Given the description of an element on the screen output the (x, y) to click on. 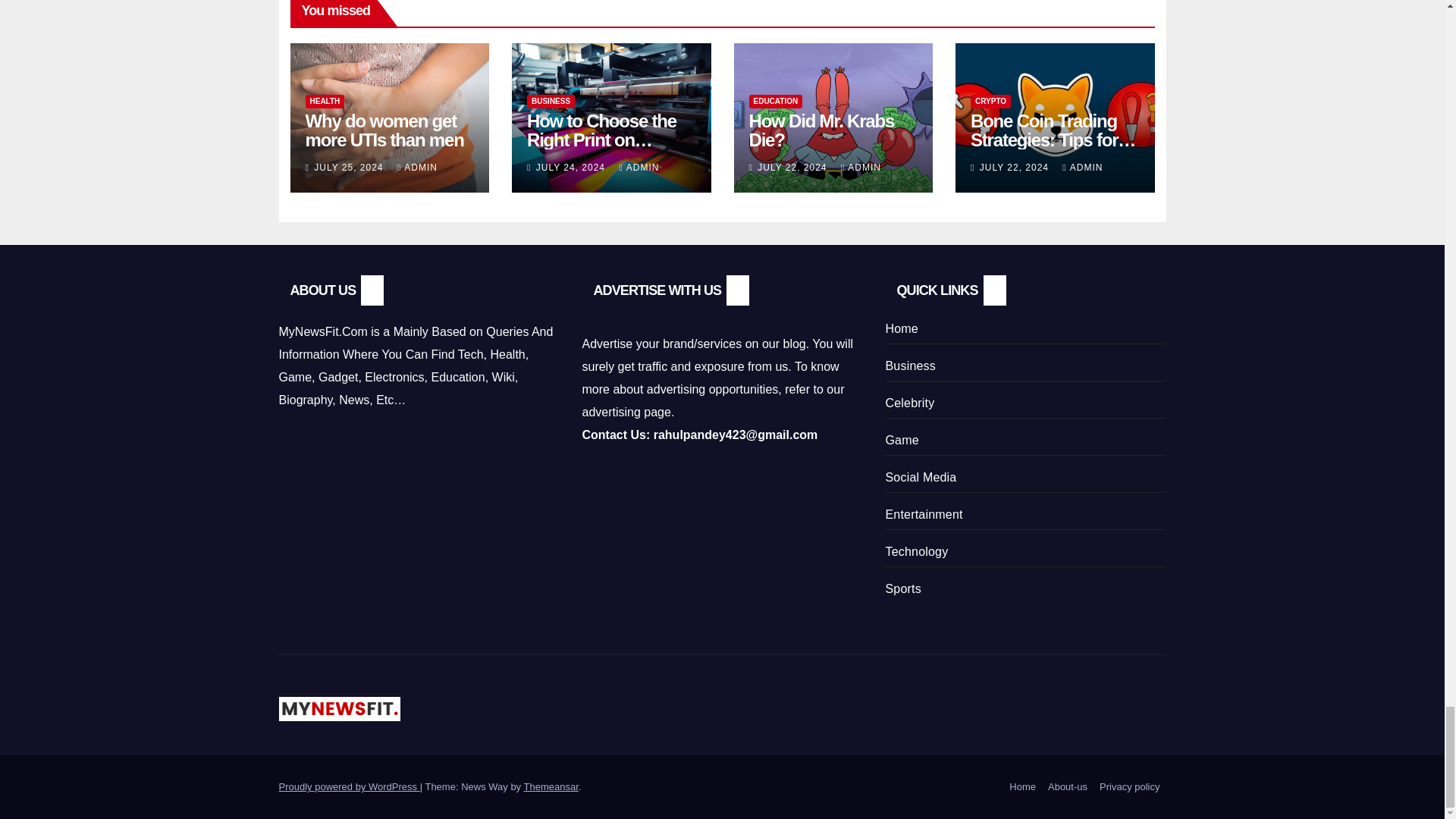
Permalink to: How Did Mr. Krabs Die? (822, 129)
Permalink to: Why do women get more UTIs than men (383, 129)
